Given the description of an element on the screen output the (x, y) to click on. 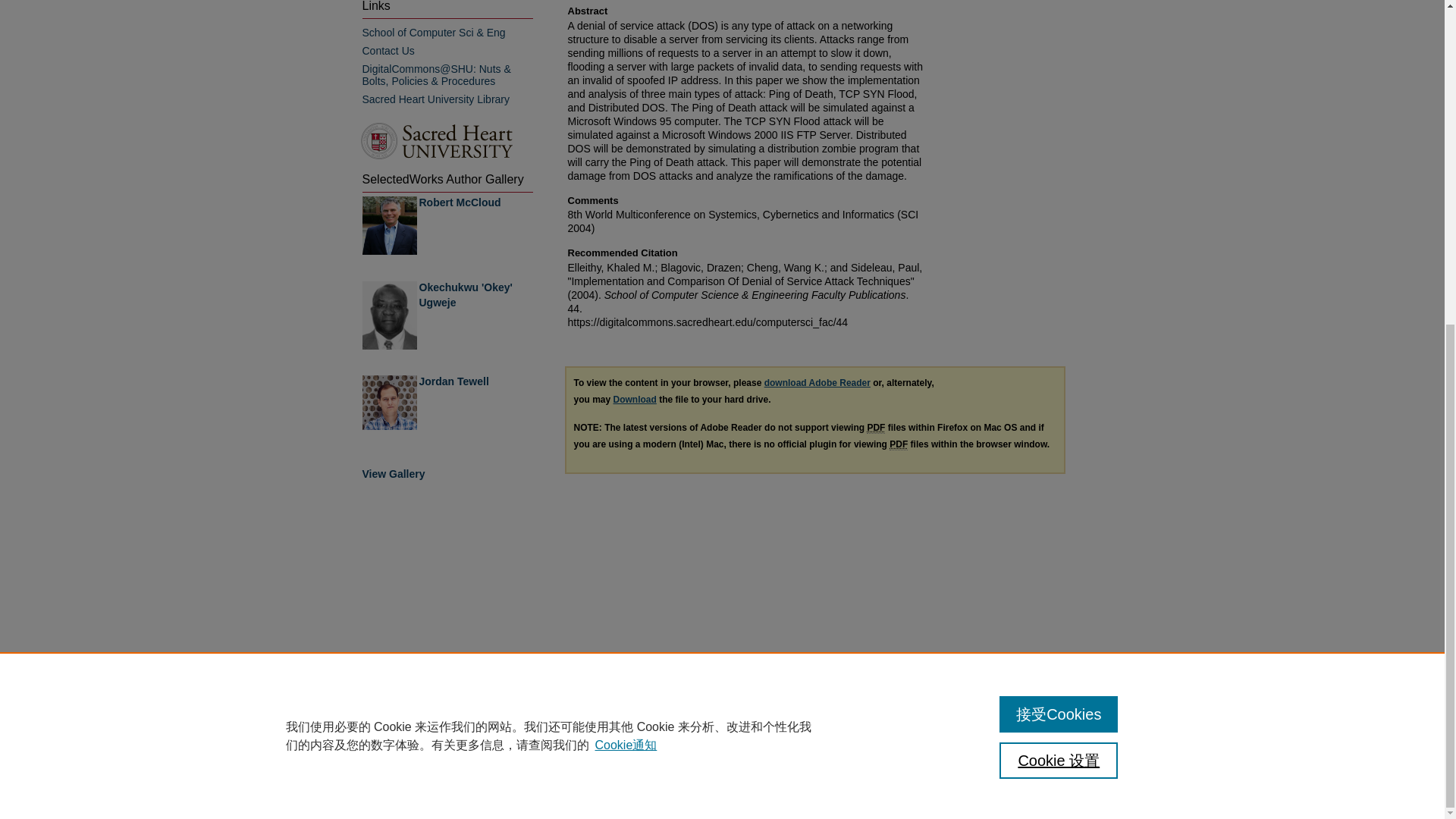
download Adobe Reader (817, 382)
Adobe - Adobe Reader download (817, 382)
Download (634, 398)
Portable Document Format (875, 428)
Portable Document Format (898, 444)
